Given the description of an element on the screen output the (x, y) to click on. 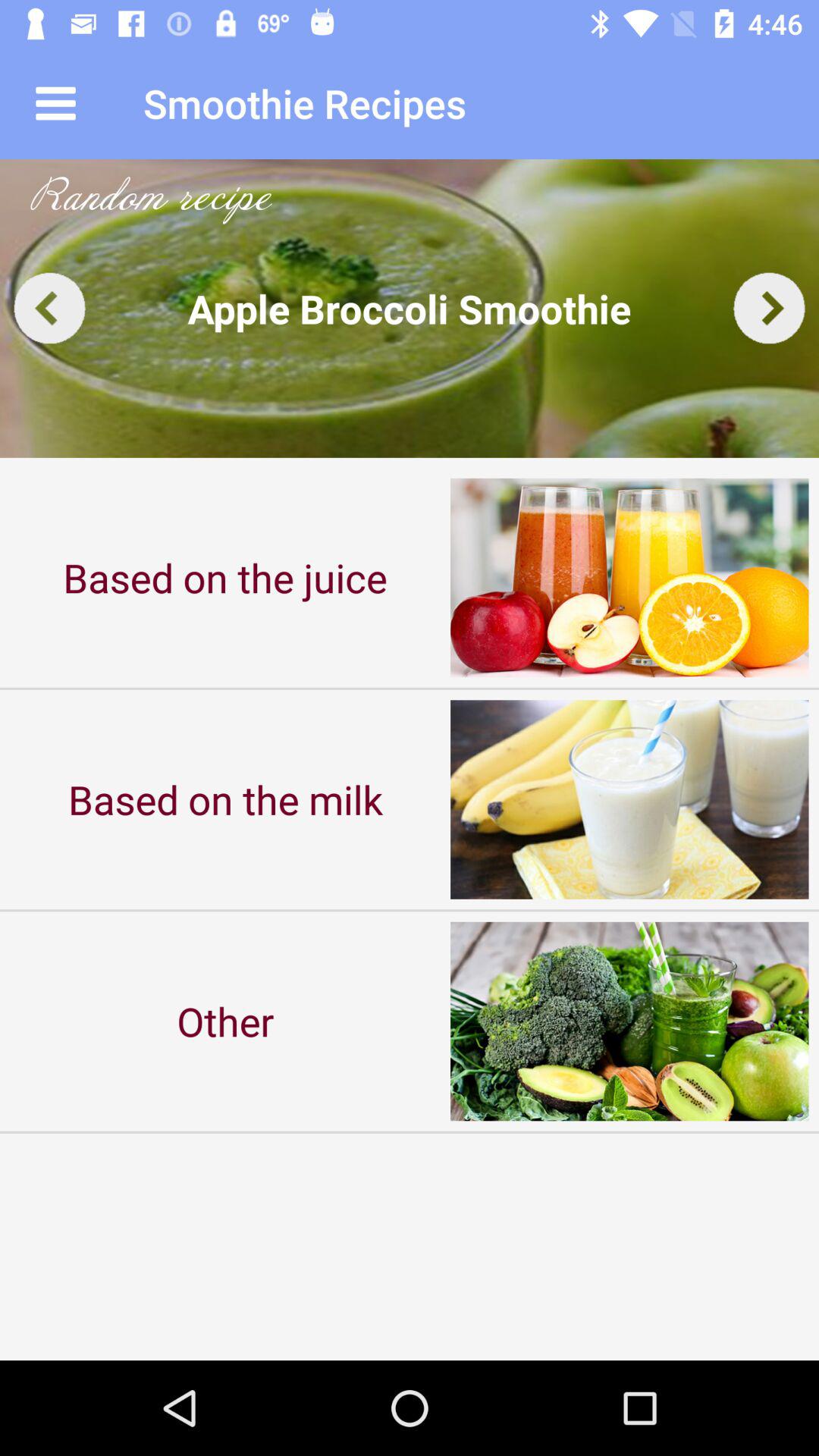
choose a recipe (409, 308)
